Given the description of an element on the screen output the (x, y) to click on. 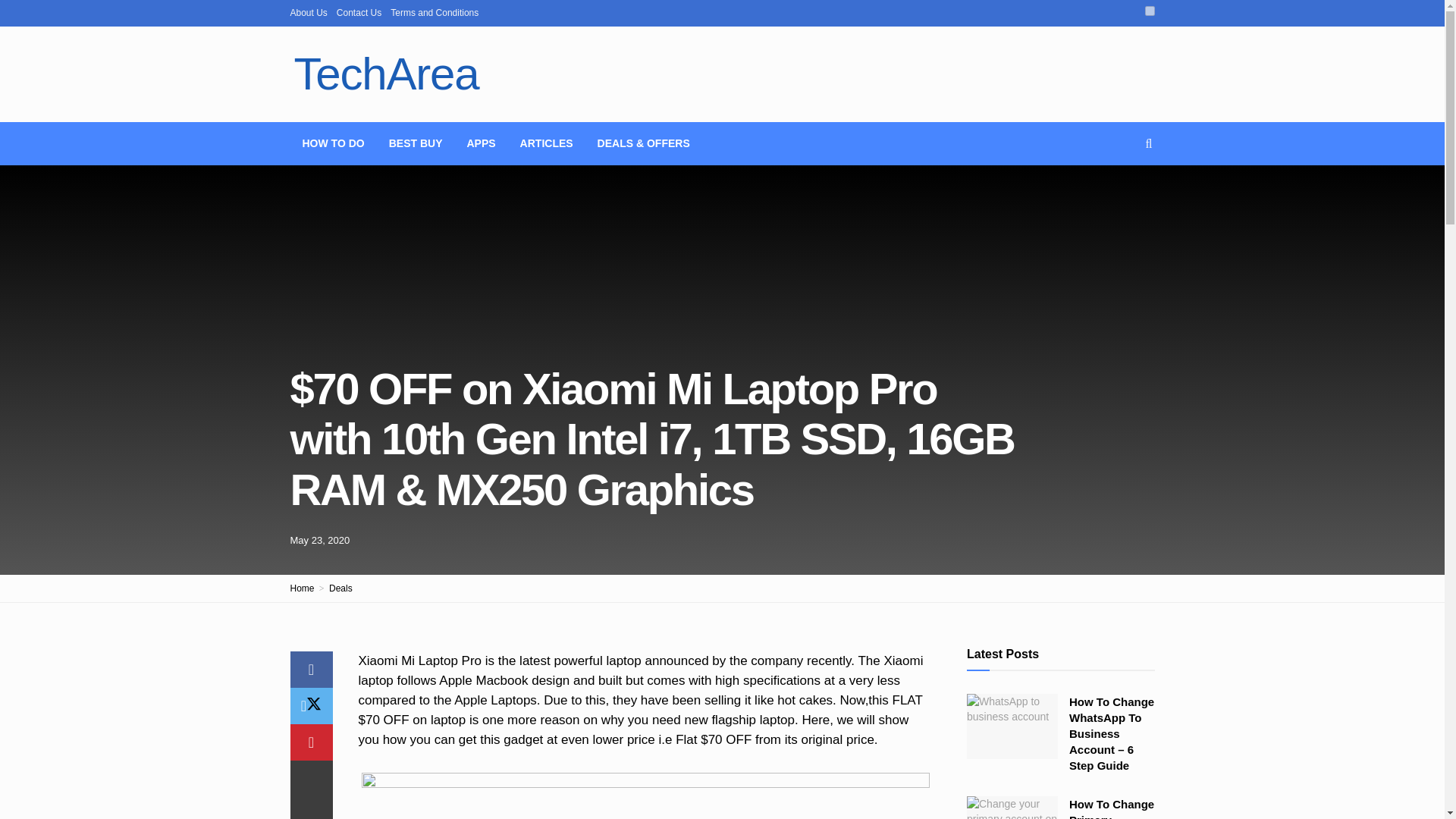
on (1149, 10)
Terms and Conditions (434, 12)
APPS (480, 143)
TechArea (385, 73)
BEST BUY (415, 143)
About Us (307, 12)
ARTICLES (546, 143)
HOW TO DO (332, 143)
Contact Us (358, 12)
